Given the description of an element on the screen output the (x, y) to click on. 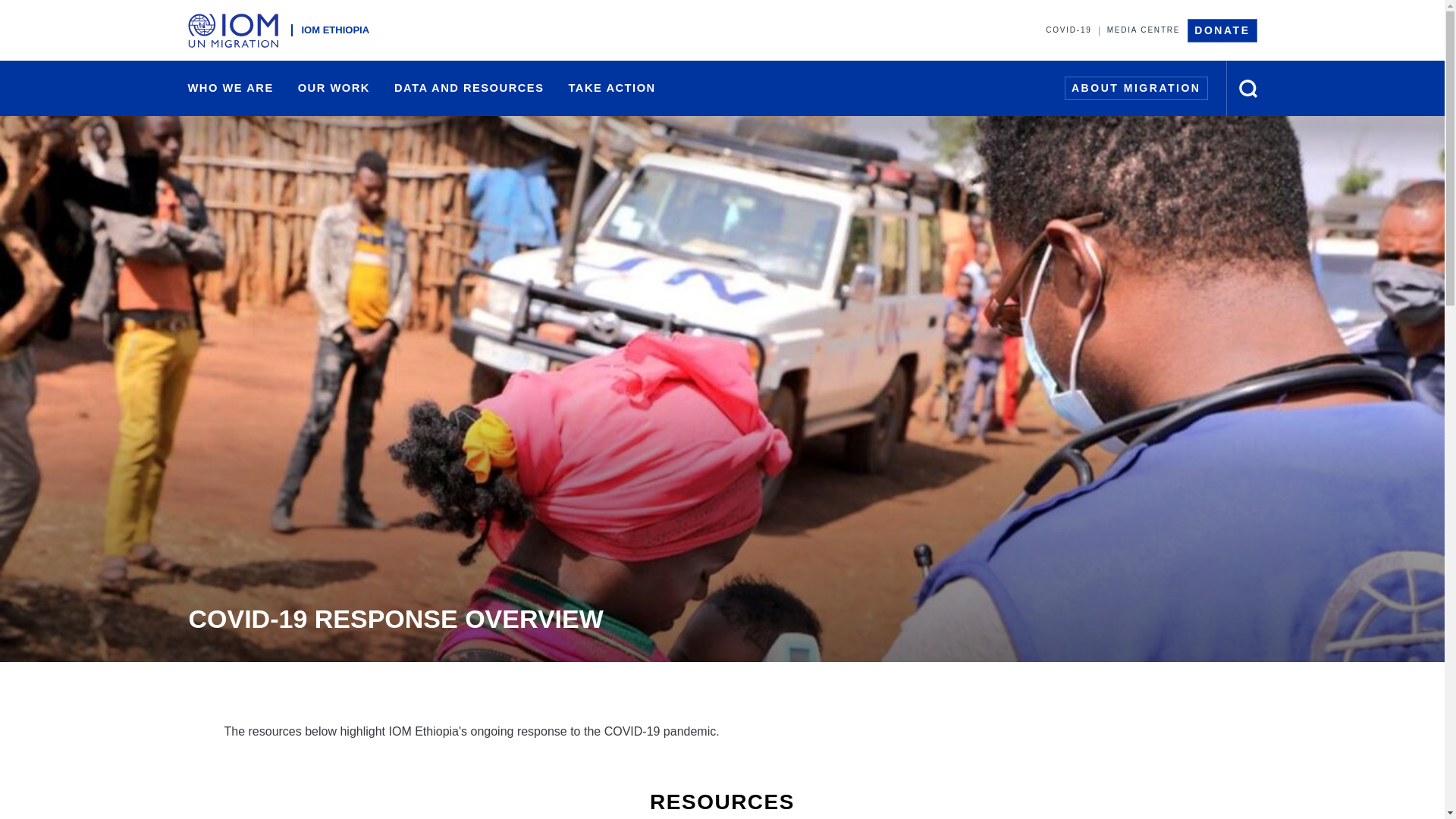
Click here to Search our website (1248, 87)
MEDIA CENTRE (1143, 30)
DATA AND RESOURCES (468, 88)
Skip to main content (721, 1)
TAKE ACTION (611, 88)
OUR WORK (333, 88)
WHO WE ARE (230, 88)
DONATE (1222, 29)
COVID-19 (1068, 30)
ABOUT MIGRATION (1136, 87)
